Given the description of an element on the screen output the (x, y) to click on. 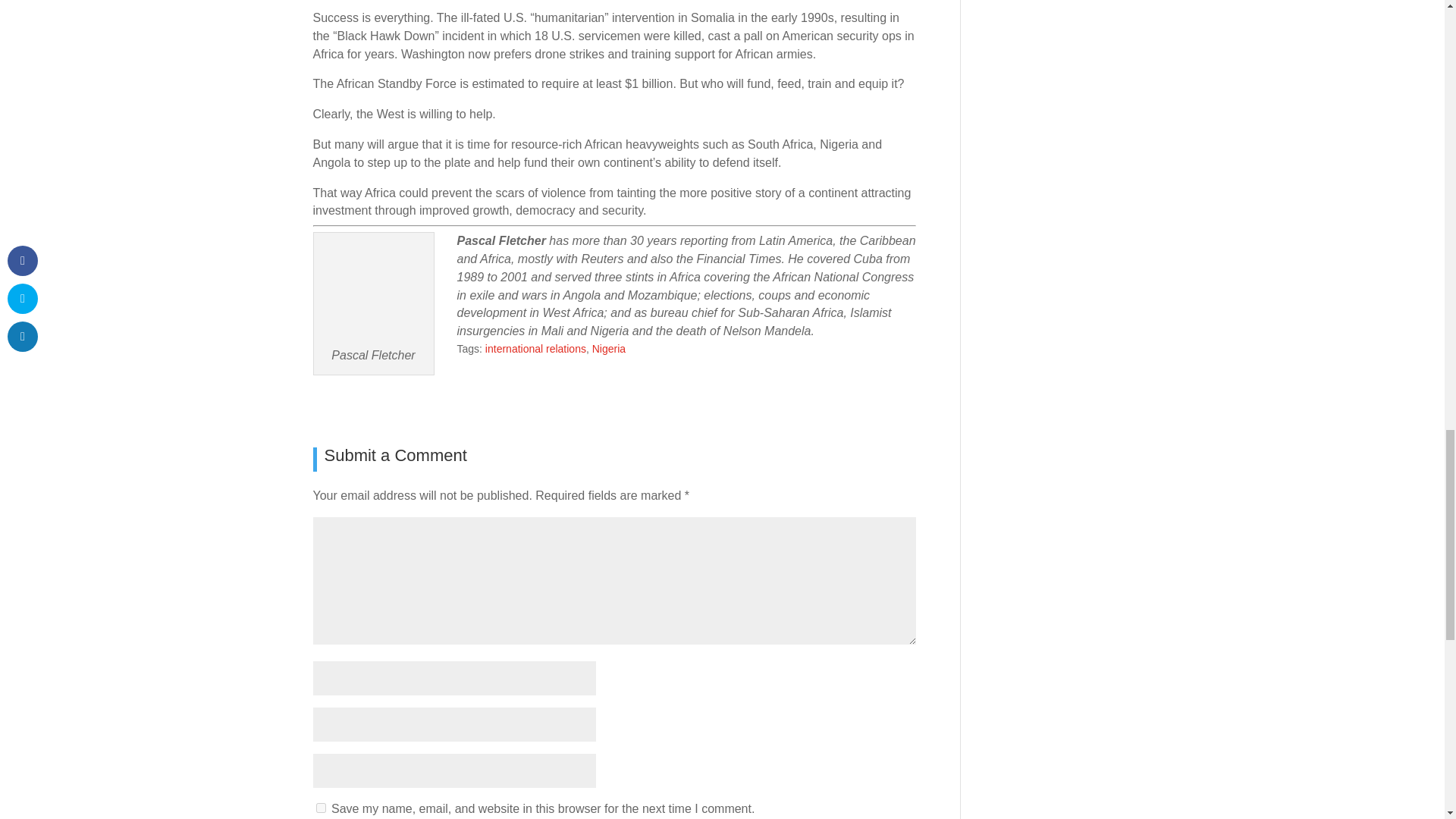
international relations (535, 348)
yes (319, 808)
Nigeria (609, 348)
